Given the description of an element on the screen output the (x, y) to click on. 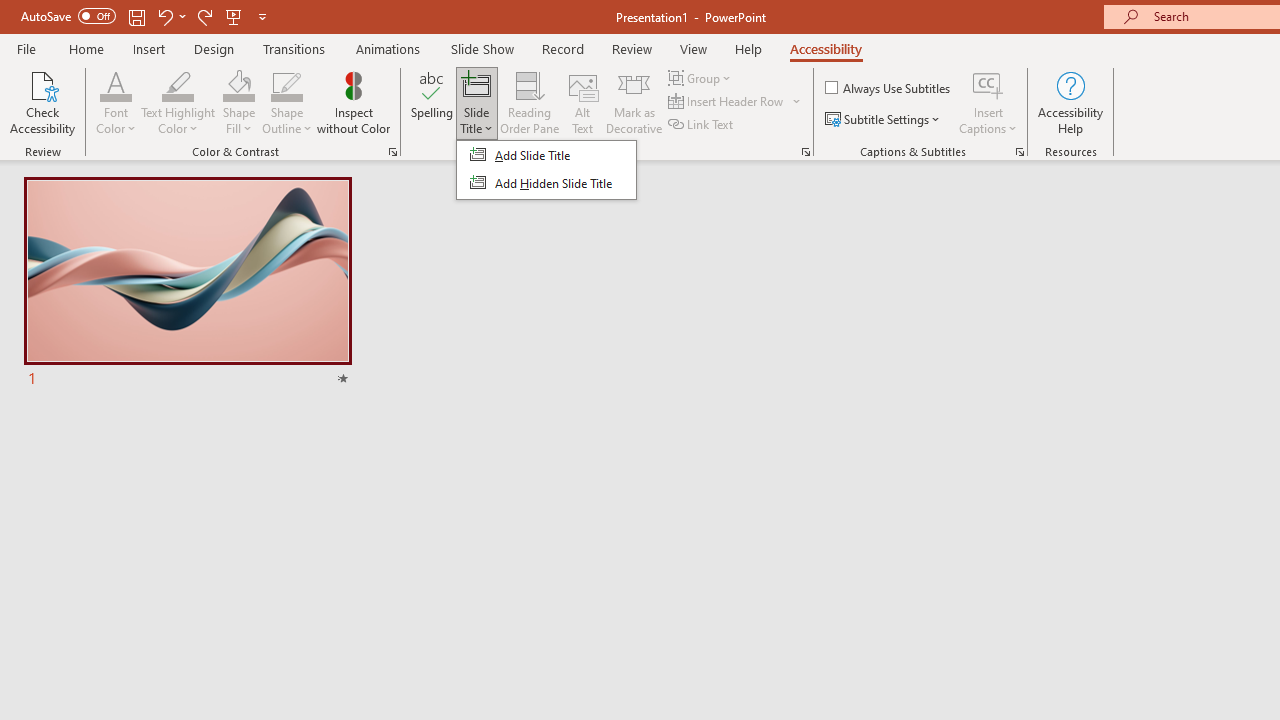
Link Text (702, 124)
Captions & Subtitles (1019, 151)
Color & Contrast (392, 151)
Slide &Title (546, 169)
